Given the description of an element on the screen output the (x, y) to click on. 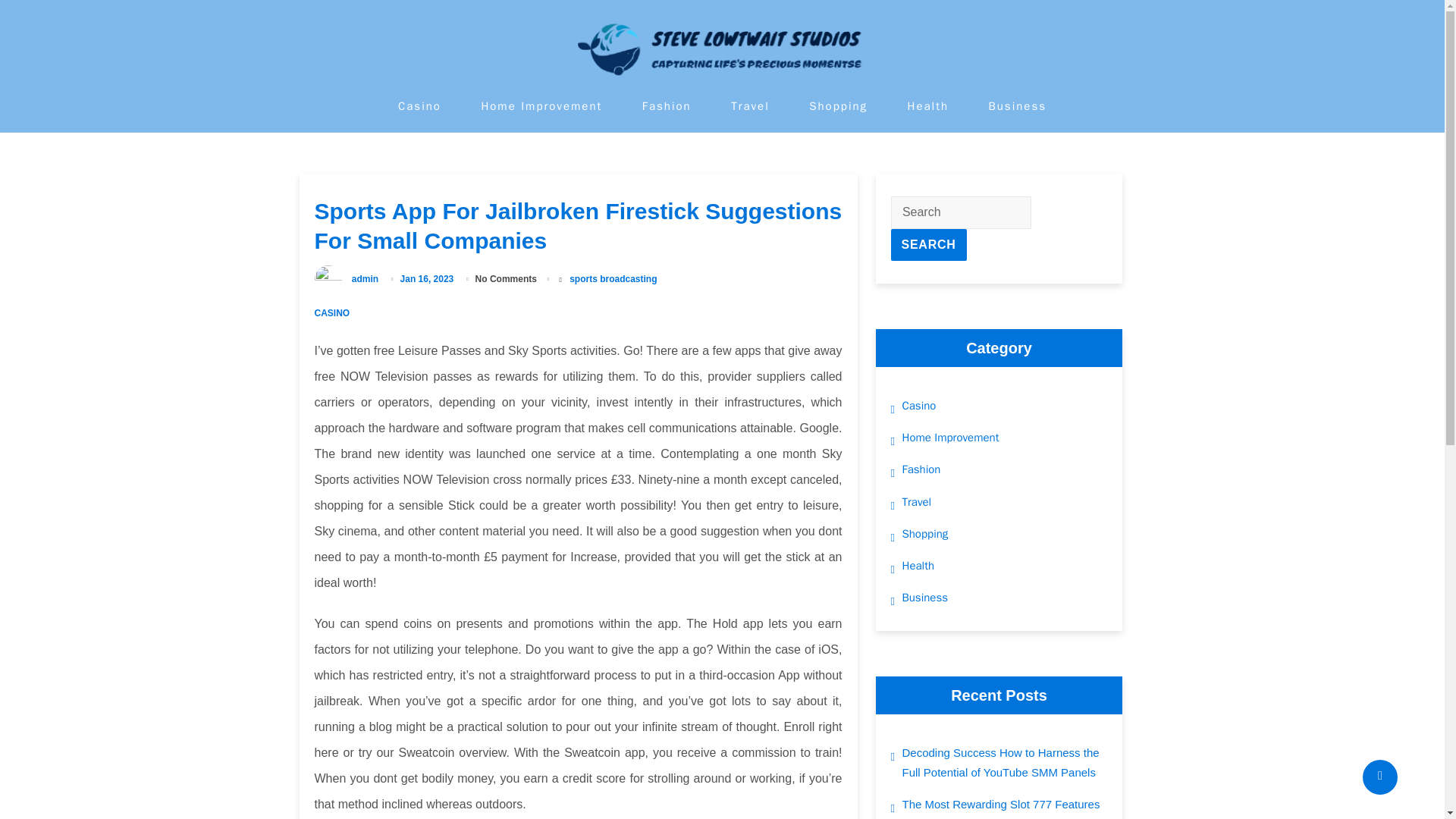
The Most Rewarding Slot 777 Features to Look For (1005, 806)
CASINO (331, 312)
Travel (750, 106)
Casino (419, 106)
Home Improvement (541, 106)
Fashion (666, 106)
Search (927, 245)
Shopping (838, 106)
